Given the description of an element on the screen output the (x, y) to click on. 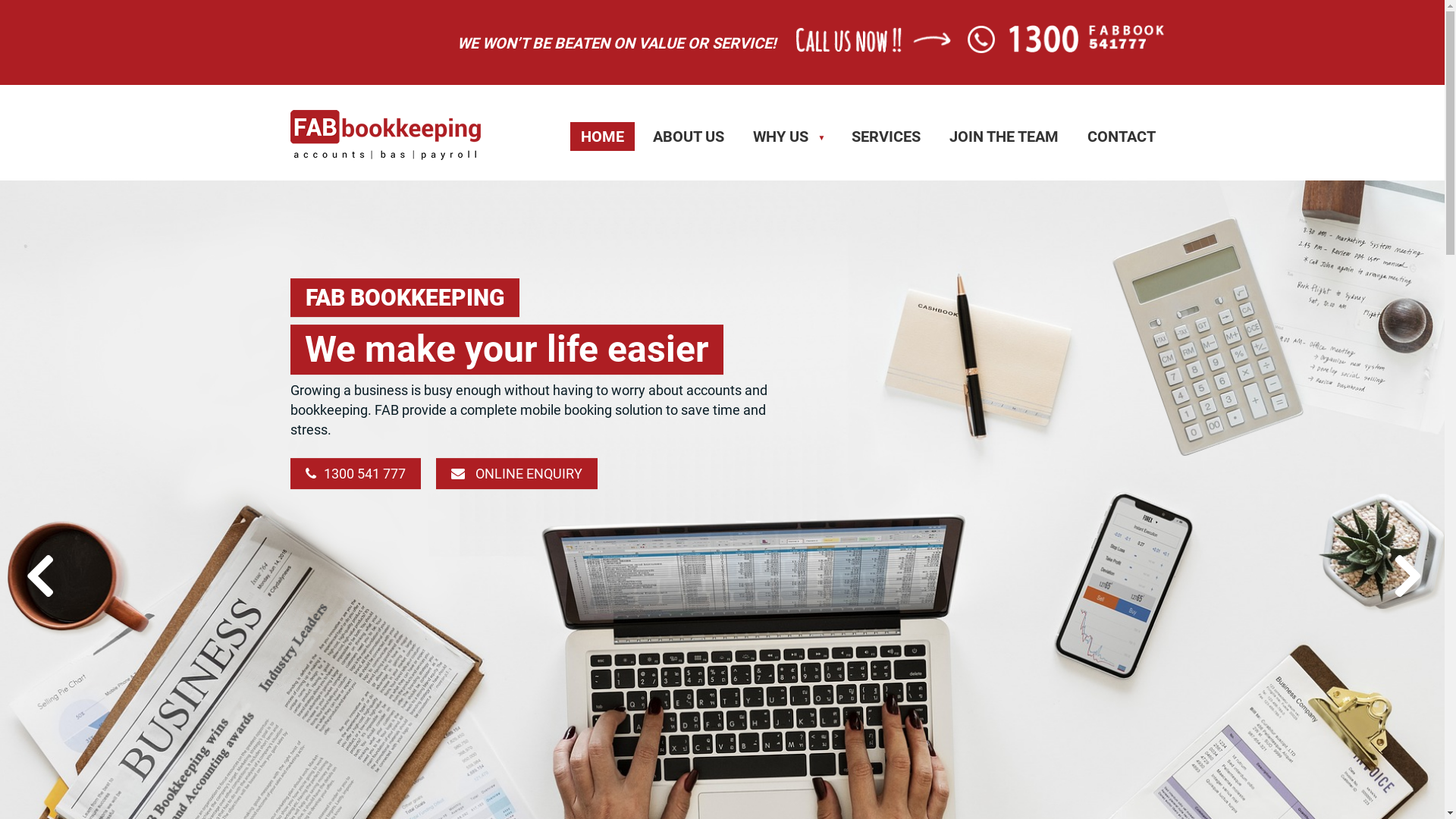
CONTACT Element type: text (1121, 136)
SERVICES Element type: text (885, 136)
JOIN THE TEAM Element type: text (1003, 136)
ABOUT US Element type: text (688, 136)
ONLINE ENQUIRY Element type: text (515, 473)
HOME Element type: text (602, 136)
WHY US Element type: text (787, 136)
1300 541 777 Element type: text (354, 473)
